Given the description of an element on the screen output the (x, y) to click on. 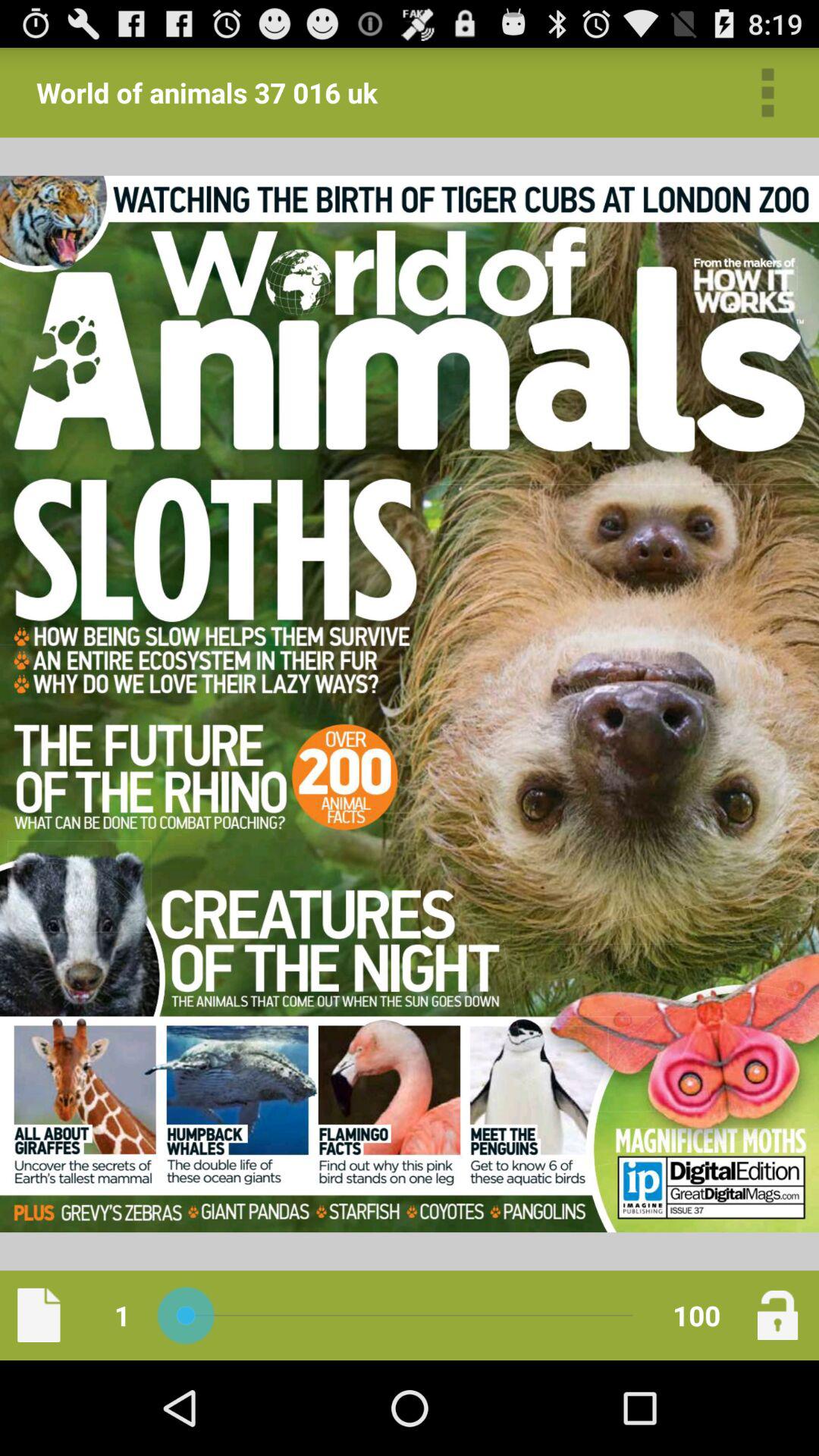
choose the item at the top right corner (767, 92)
